Given the description of an element on the screen output the (x, y) to click on. 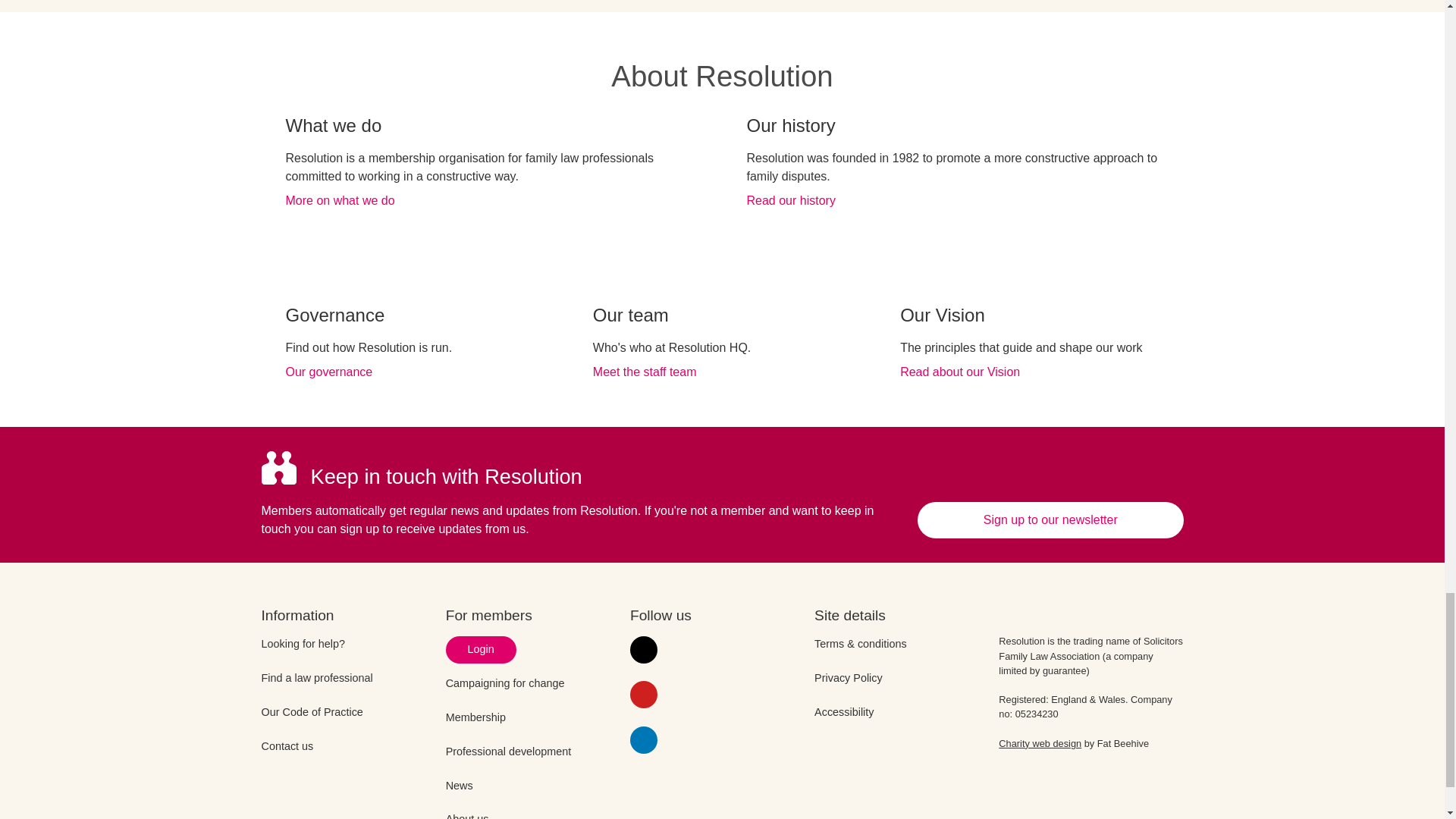
Linkedin (644, 739)
Twitter (644, 649)
Youtube (644, 694)
